Given the description of an element on the screen output the (x, y) to click on. 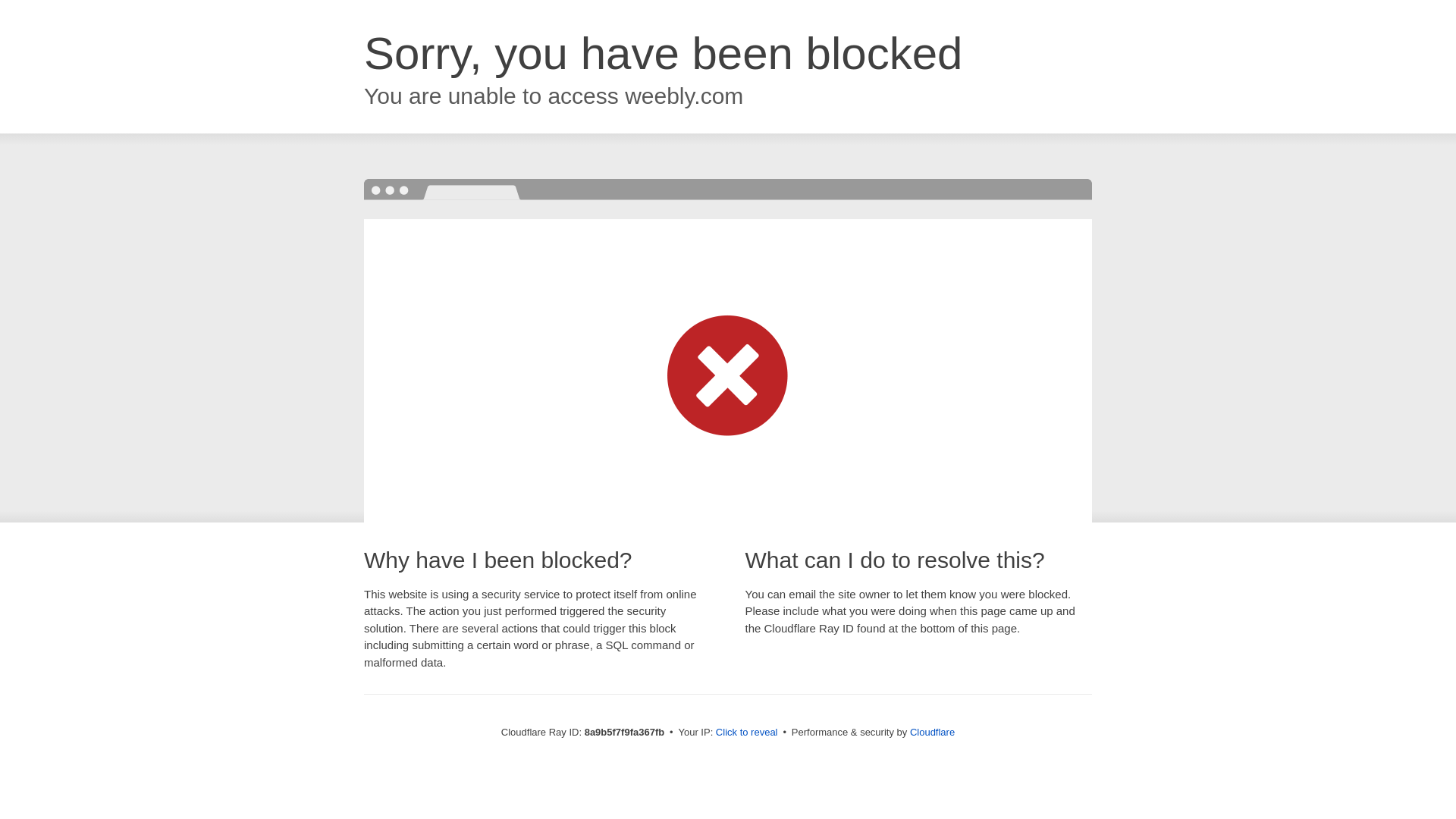
Cloudflare (932, 731)
Click to reveal (746, 732)
